Given the description of an element on the screen output the (x, y) to click on. 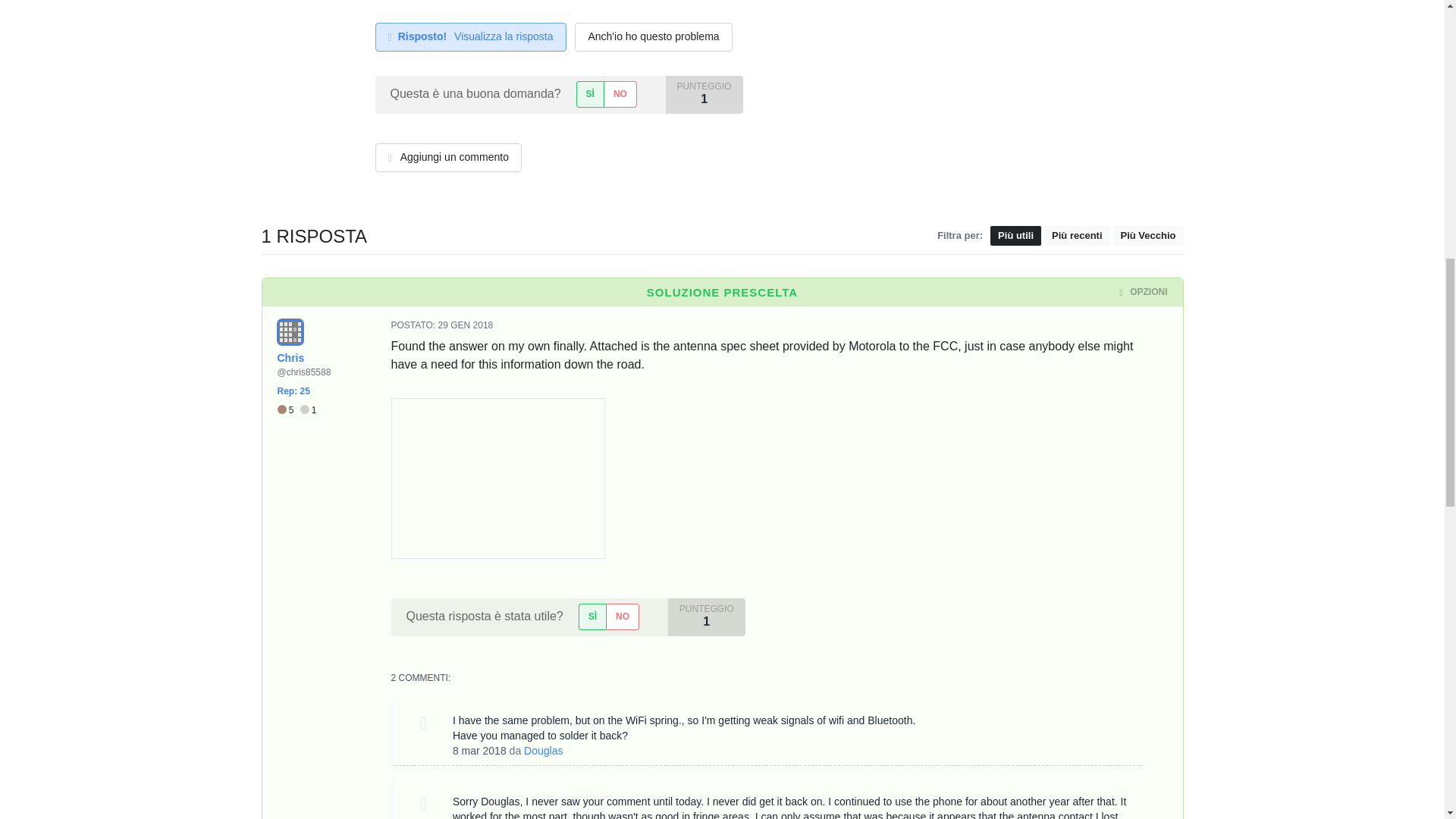
NO (620, 94)
5 Bronzo distintivi (288, 410)
Douglas (543, 750)
Risposto! Visualizza la risposta (470, 36)
Aggiungi un commento (447, 157)
Anch'io ho questo problema (653, 36)
Thu, 08 Mar 2018 05:54:46 -0700 (479, 750)
NO (622, 616)
POSTATO: 29 GEN 2018 (442, 325)
5 1 (297, 410)
